Given the description of an element on the screen output the (x, y) to click on. 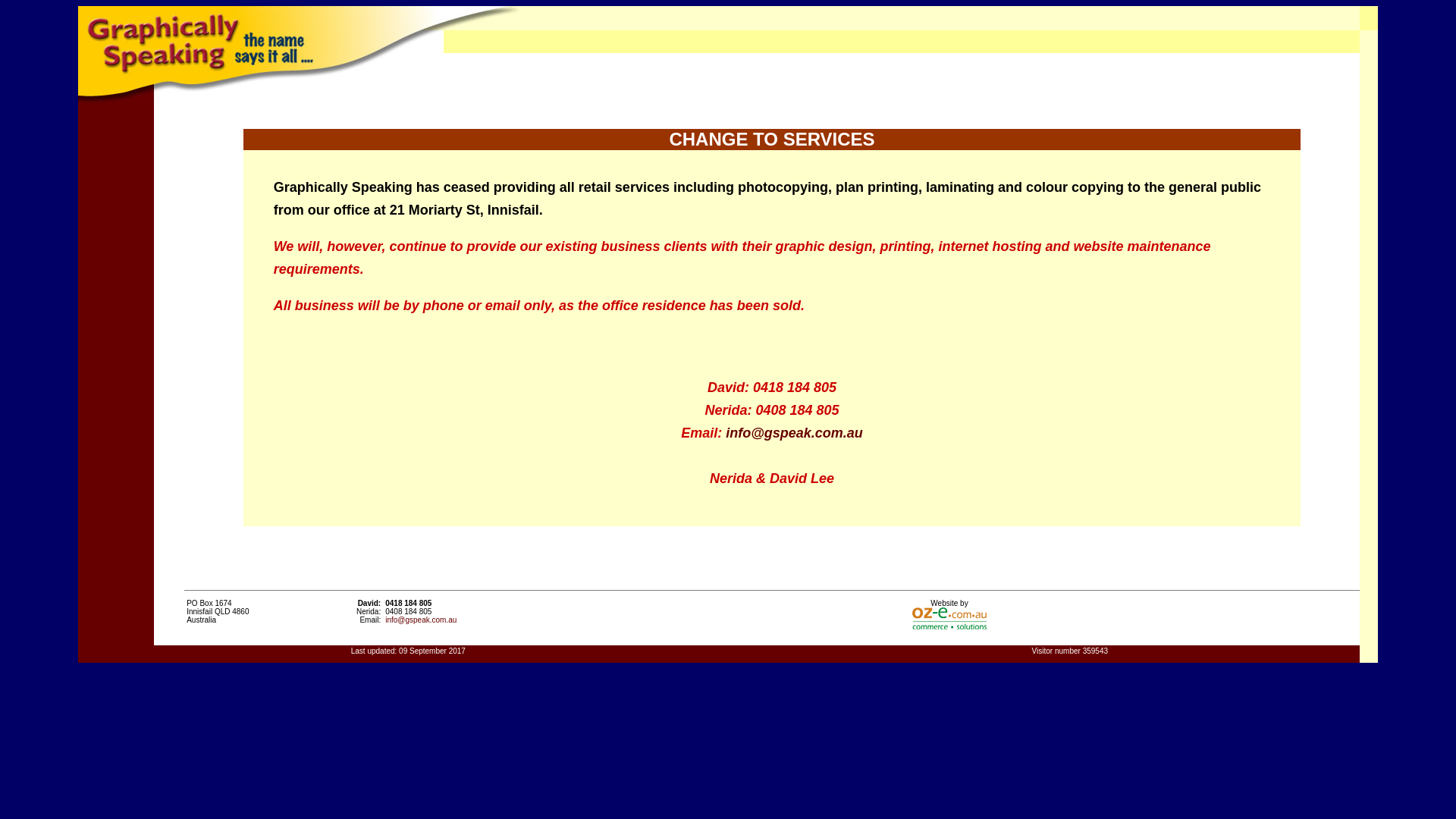
info@gspeak.com.au Element type: text (420, 619)
info@gspeak.com.au Element type: text (793, 432)
